Given the description of an element on the screen output the (x, y) to click on. 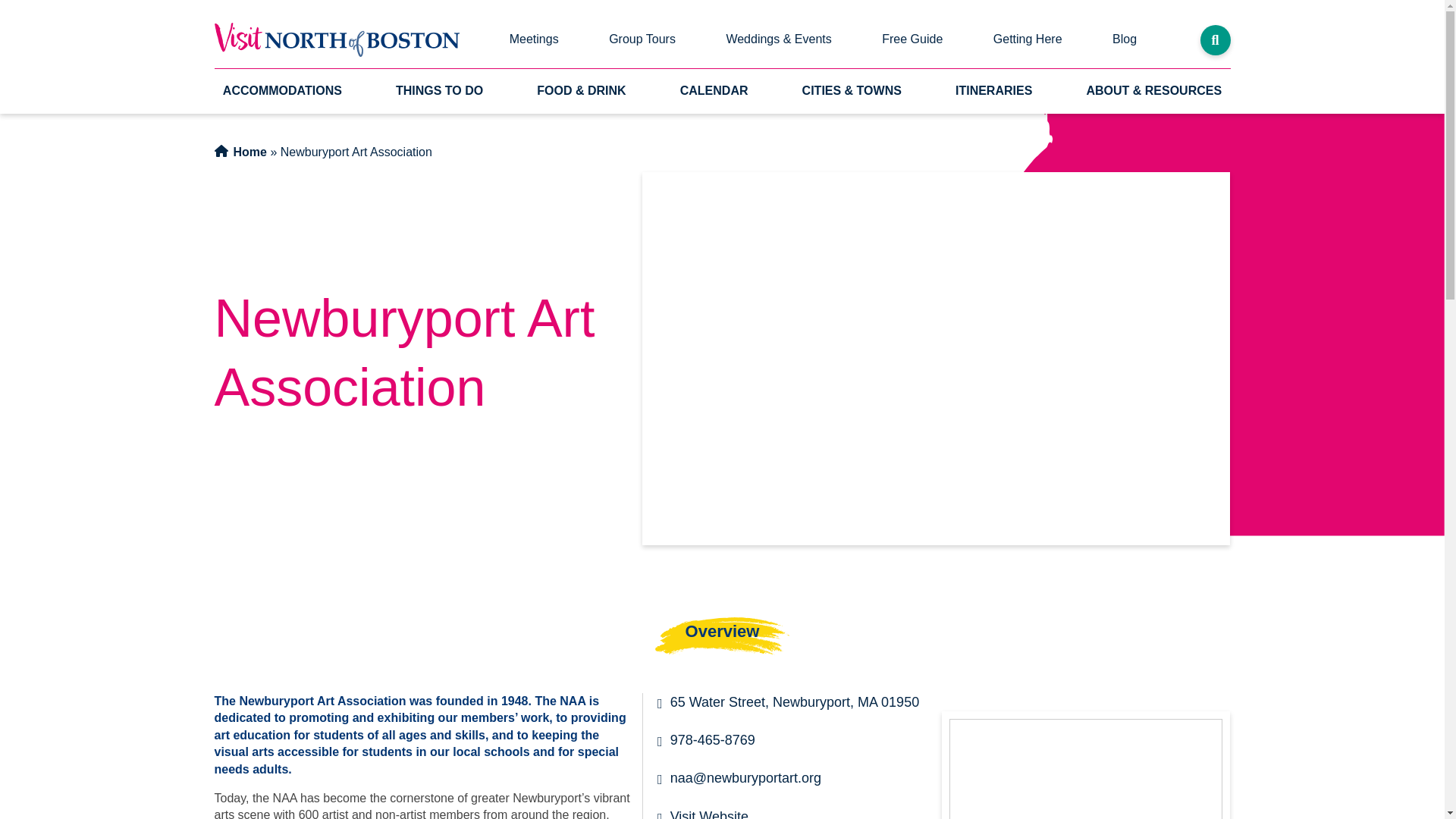
Getting Here (1027, 39)
Blog (1124, 39)
Free Guide (912, 39)
Group Tours (642, 39)
Meetings (533, 39)
